Given the description of an element on the screen output the (x, y) to click on. 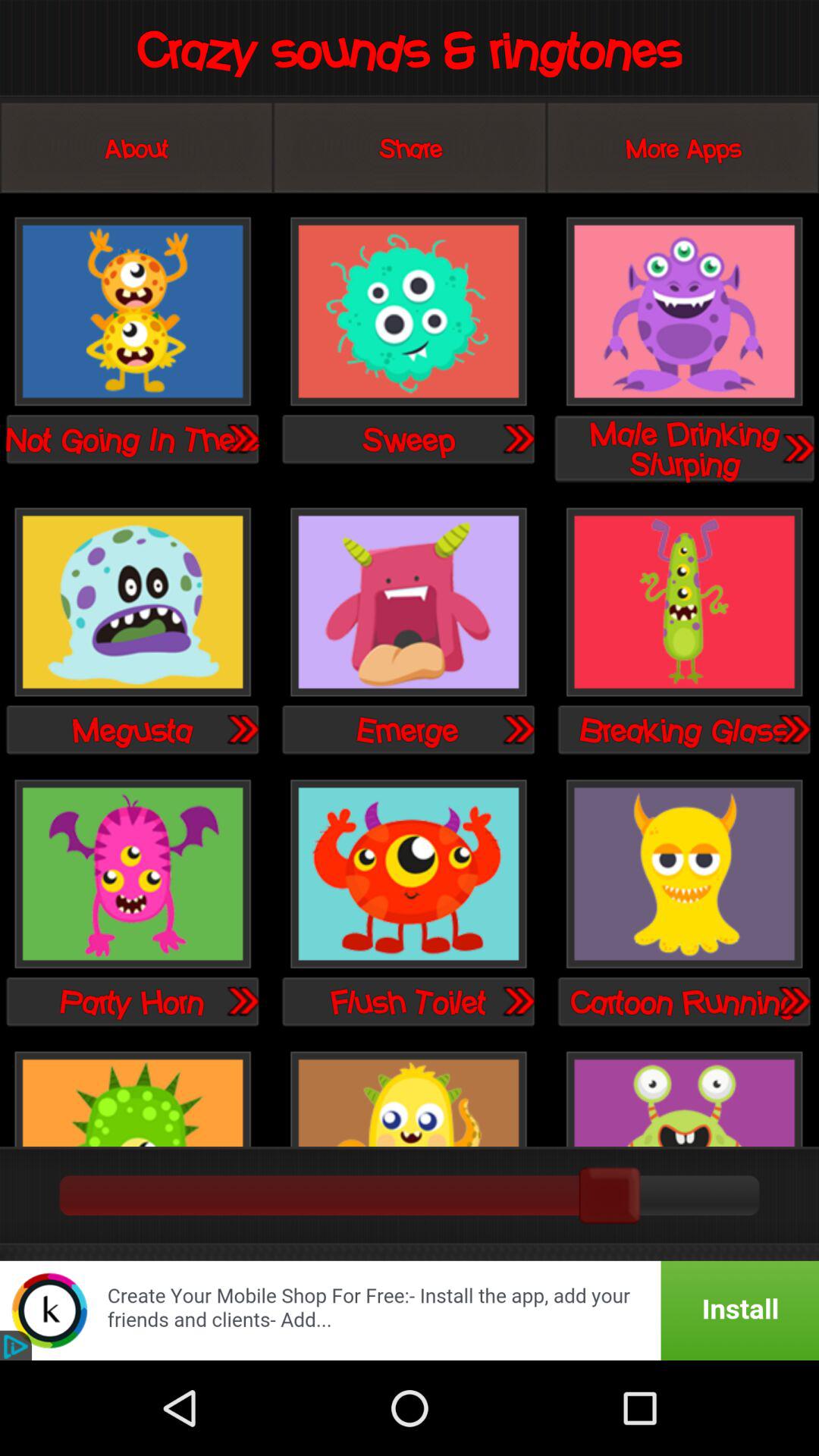
toggle play option (408, 312)
